Given the description of an element on the screen output the (x, y) to click on. 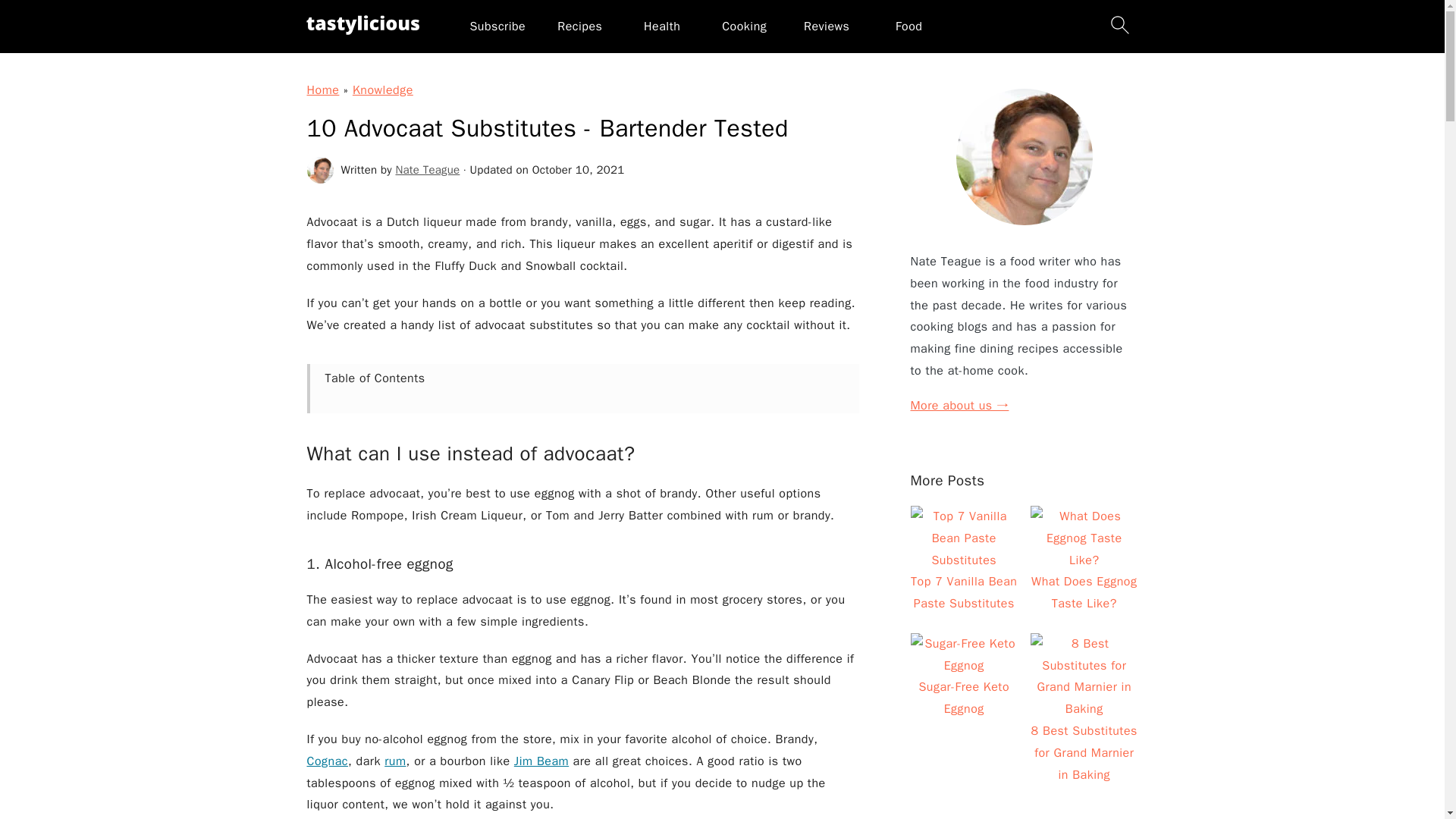
search icon (1119, 24)
Home (322, 89)
Cognac (326, 761)
rum (395, 761)
Health (661, 26)
Jim Beam (541, 761)
Nate Teague (428, 169)
Cooking (744, 26)
Subscribe (496, 26)
Recipes (579, 26)
Knowledge (382, 89)
Food (909, 26)
Reviews (825, 26)
